Given the description of an element on the screen output the (x, y) to click on. 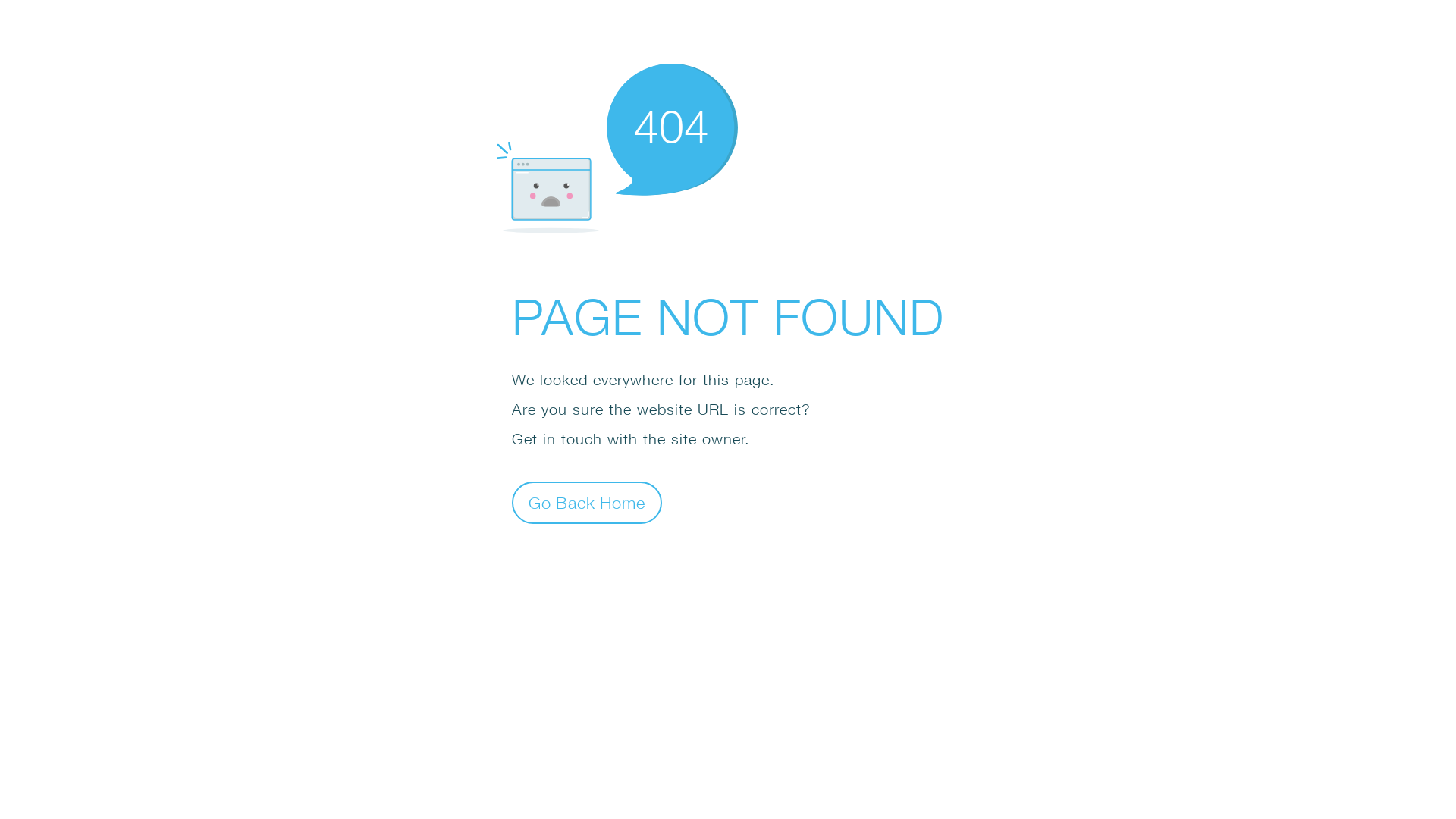
Go Back Home Element type: text (586, 502)
